Given the description of an element on the screen output the (x, y) to click on. 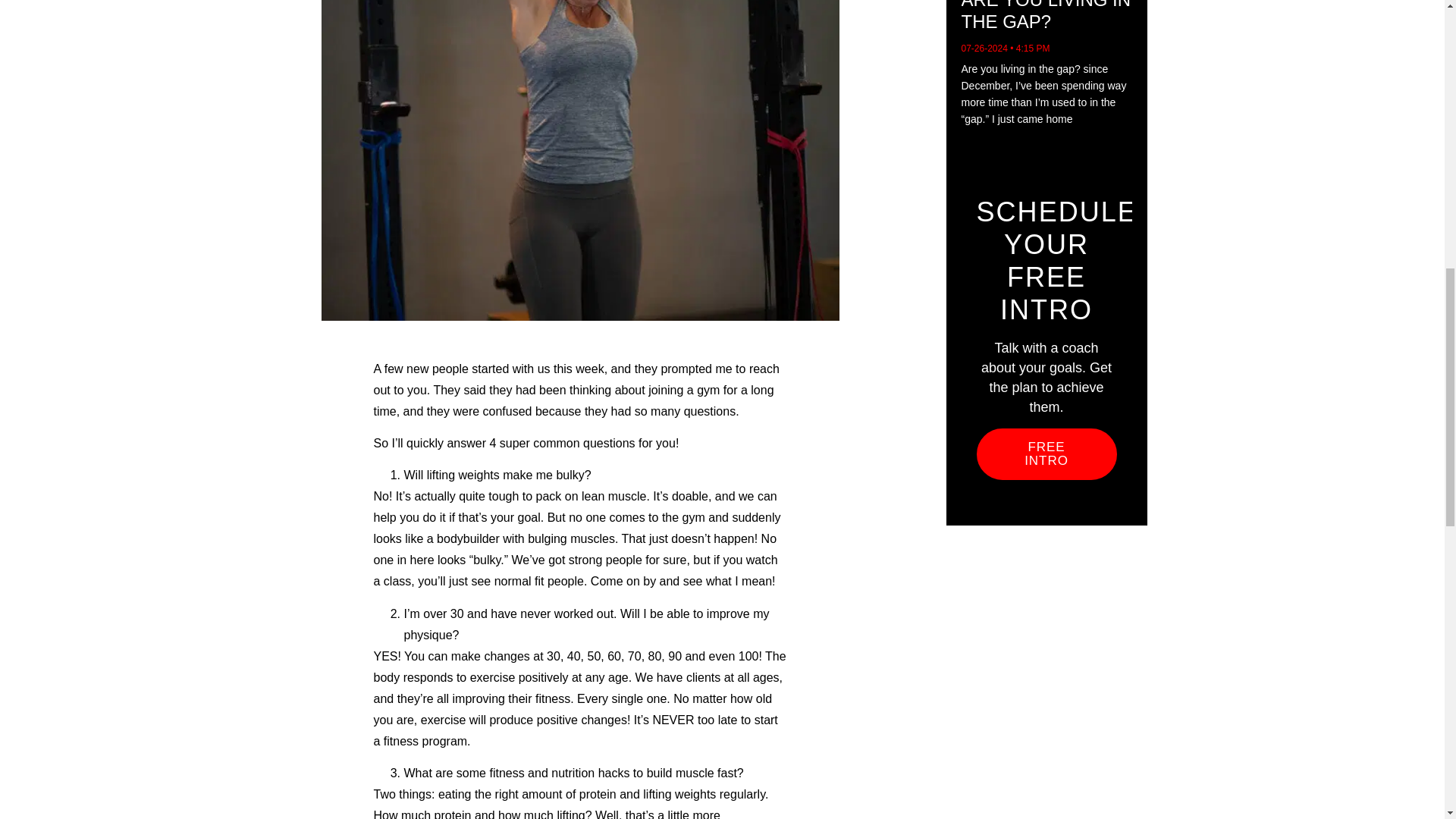
ARE YOU LIVING IN THE GAP? (1045, 15)
FREE INTRO (1046, 453)
